Given the description of an element on the screen output the (x, y) to click on. 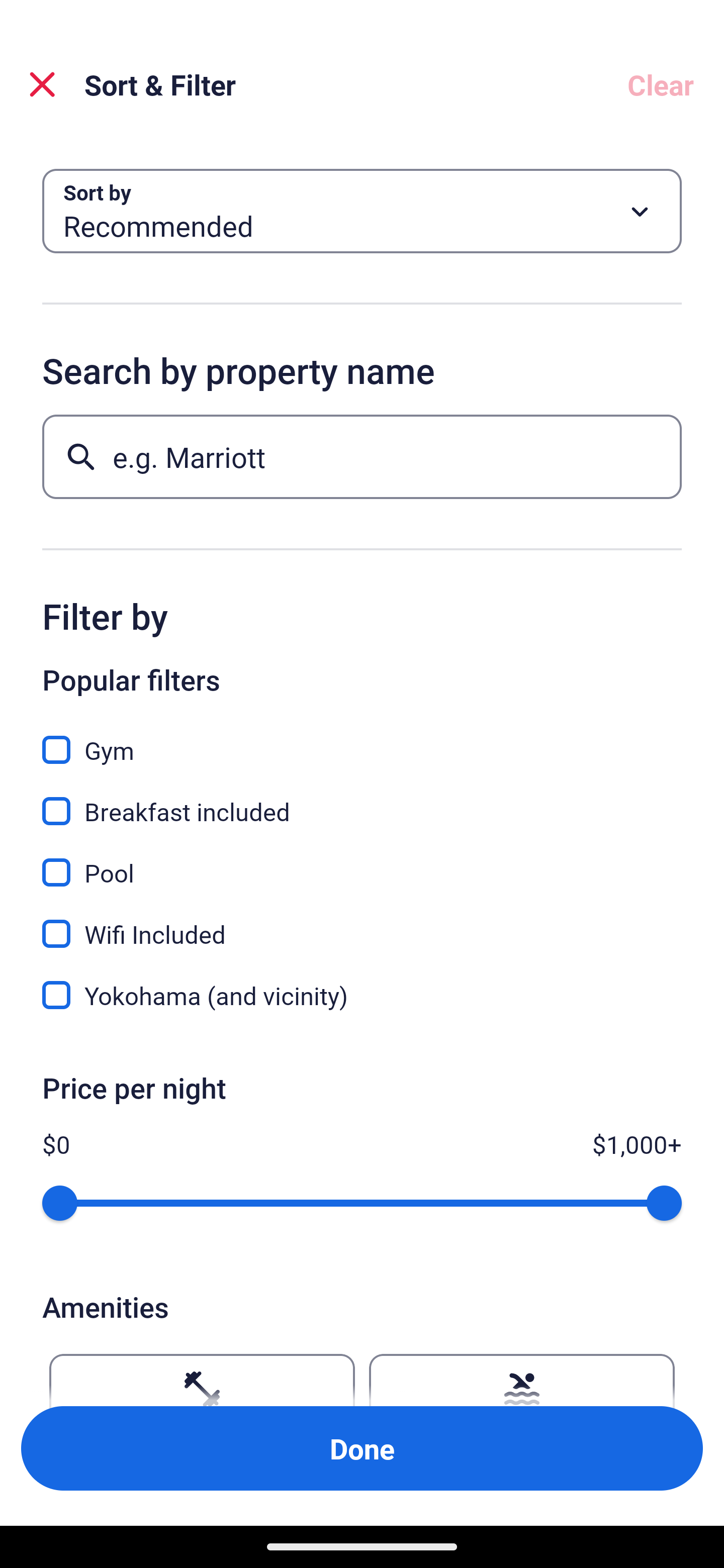
Close Sort and Filter (42, 84)
Clear (660, 84)
Sort by Button Recommended (361, 211)
e.g. Marriott Button (361, 455)
Gym, Gym (361, 738)
Breakfast included, Breakfast included (361, 800)
Pool, Pool (361, 861)
Wifi Included, Wifi Included (361, 922)
Yokohama (and vicinity), Yokohama (and vicinity) (361, 995)
Apply and close Sort and Filter Done (361, 1448)
